Given the description of an element on the screen output the (x, y) to click on. 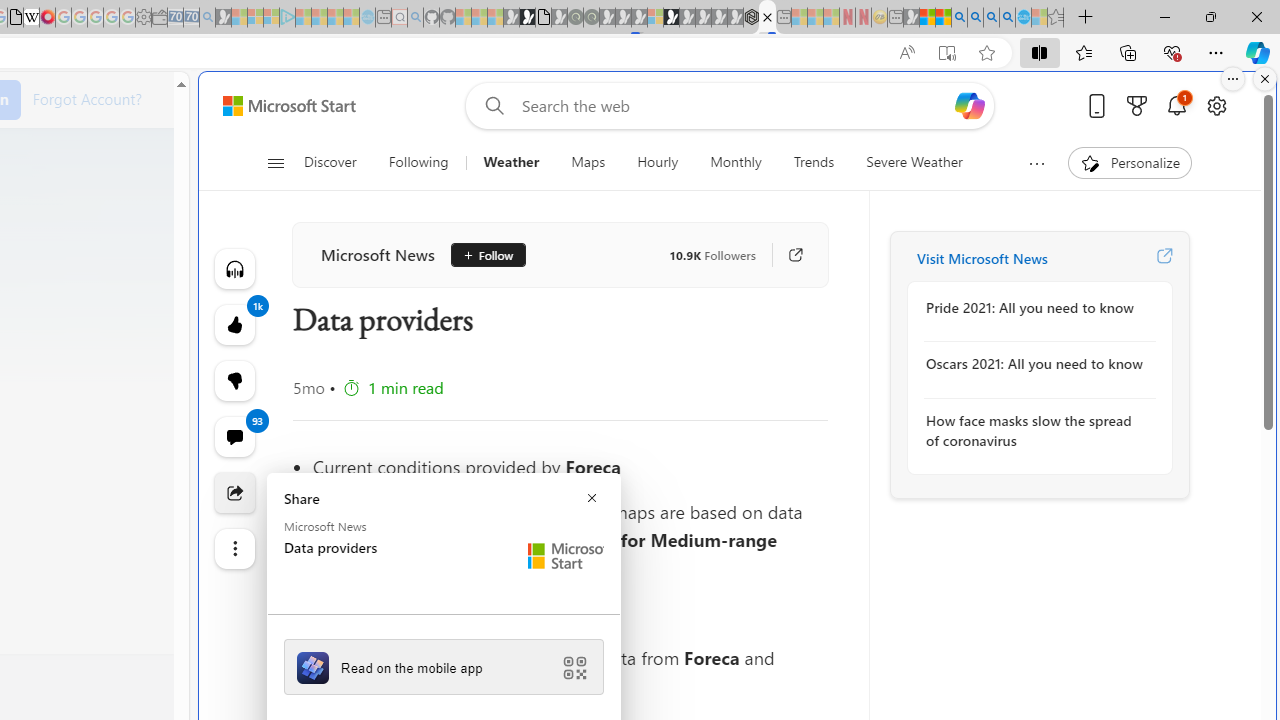
View comments 93 Comment (234, 436)
Microsoft News (377, 254)
Sign in to your account - Sleeping (655, 17)
Target page - Wikipedia (31, 17)
Play Zoo Boom in your browser | Games from Microsoft Start (527, 17)
Visit Microsoft News website (1164, 258)
Maps (587, 162)
Nordace - Cooler Bags (751, 17)
